Given the description of an element on the screen output the (x, y) to click on. 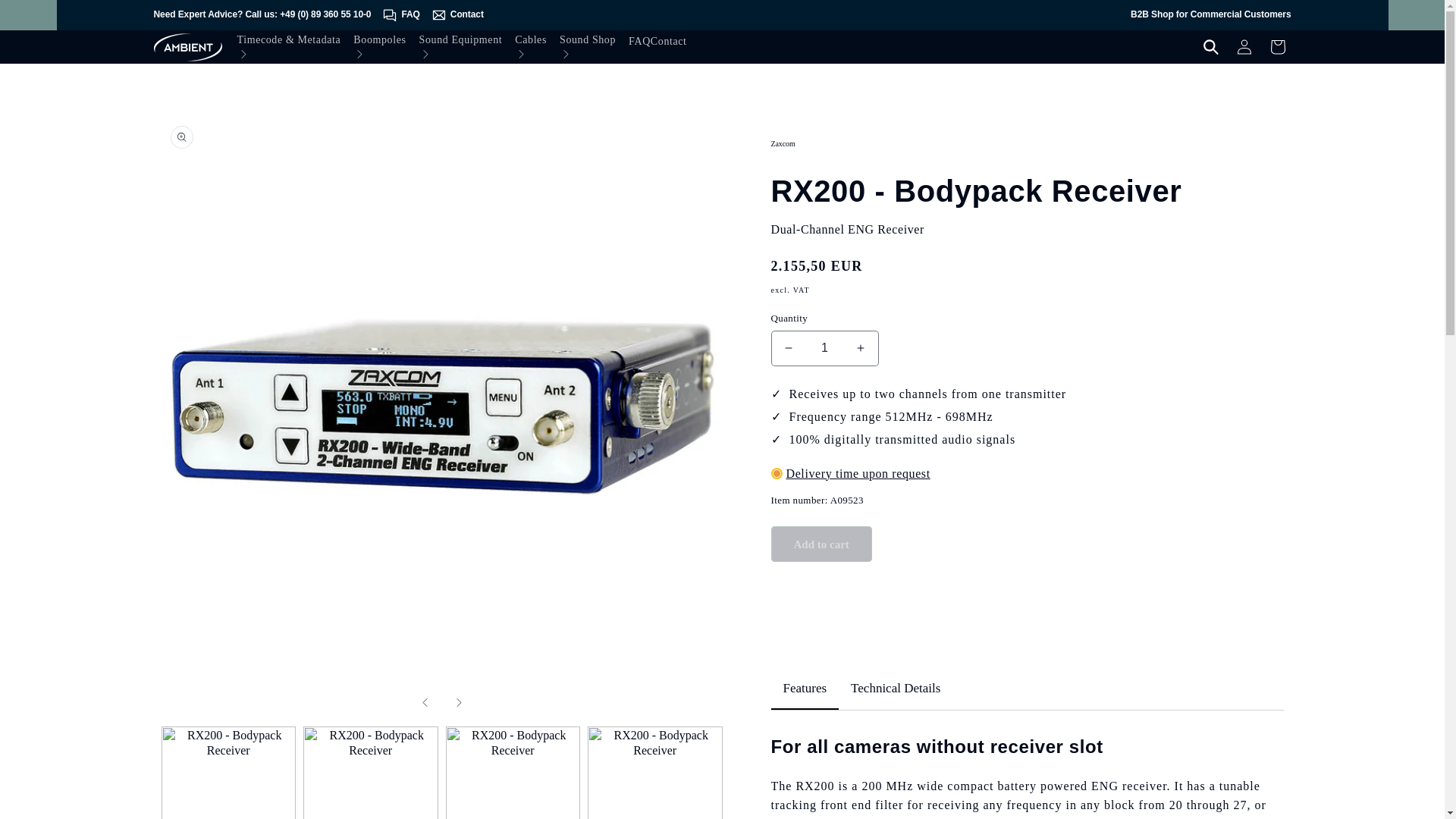
Contact (456, 15)
FAQ (400, 15)
1 (824, 348)
Skip to content (45, 17)
